Given the description of an element on the screen output the (x, y) to click on. 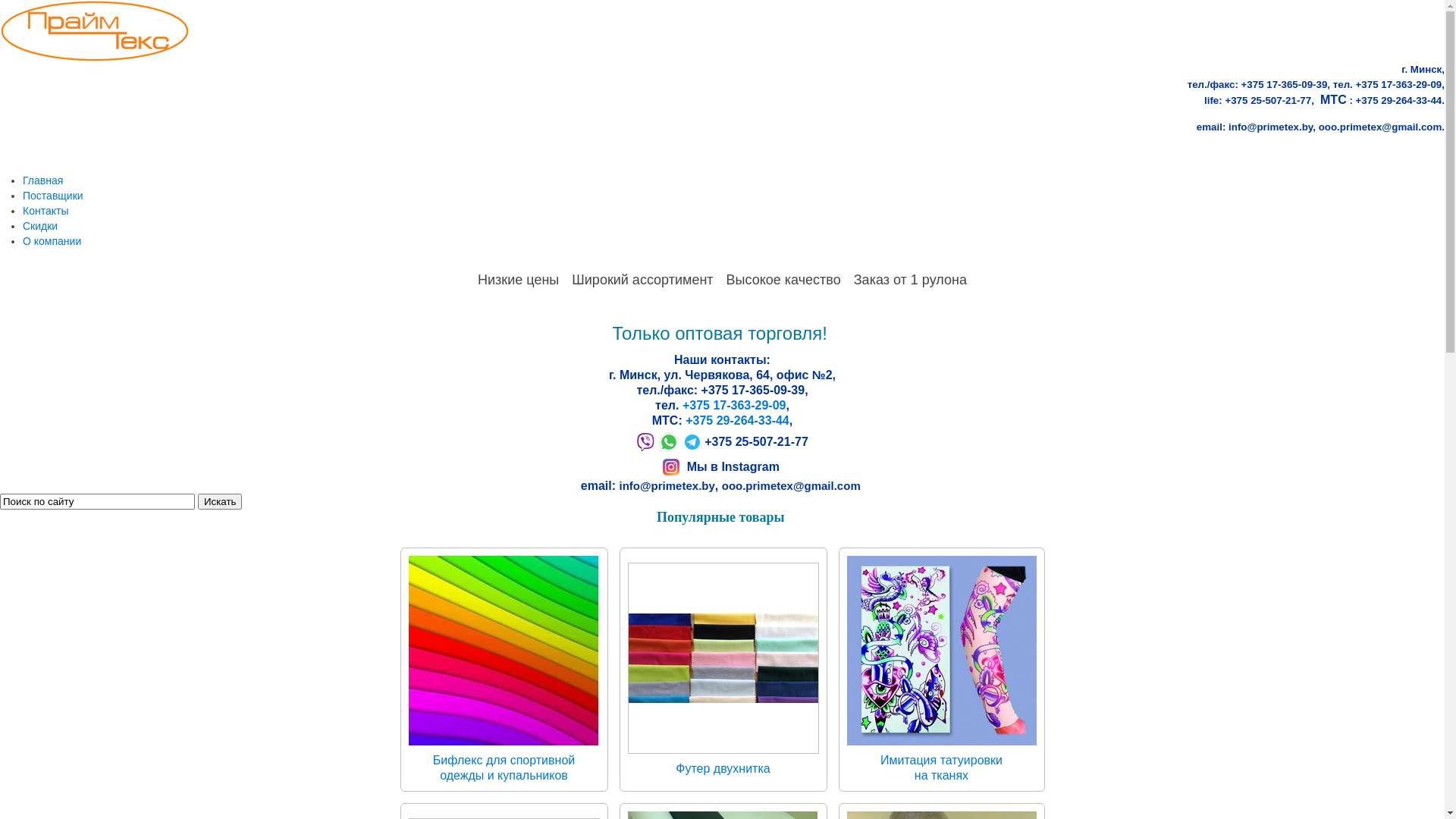
+375 29-264-33-44 Element type: text (737, 420)
+375 17-363-29-09 Element type: text (734, 404)
ooo.primetex@gmail.com Element type: text (790, 485)
info@primetex.by Element type: text (1270, 126)
ooo.primetex@gmail.com Element type: text (1380, 126)
. Element type: text (1442, 126)
info@primetex.by Element type: text (666, 485)
